Given the description of an element on the screen output the (x, y) to click on. 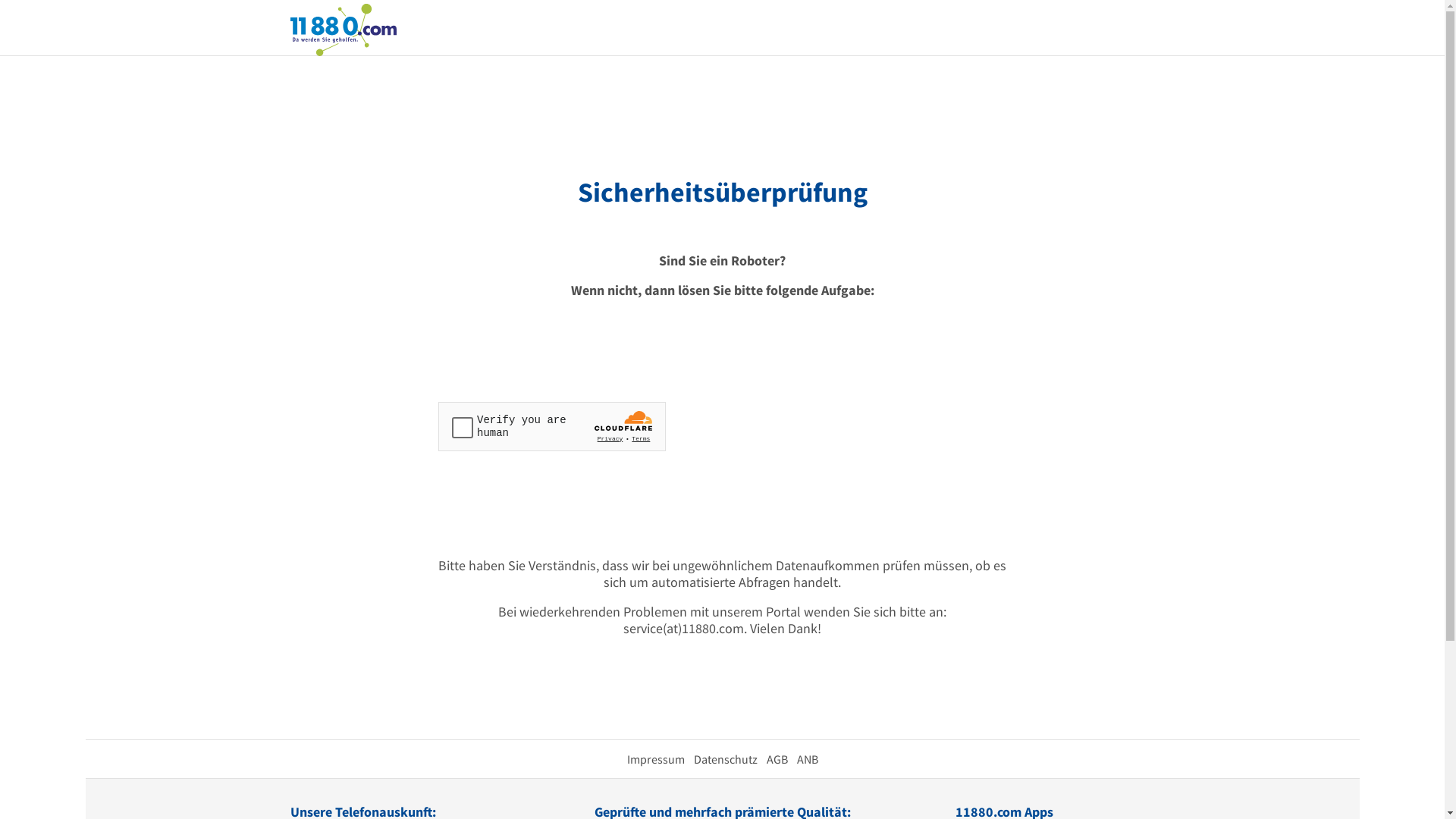
11880.com Element type: hover (342, 28)
Datenschutz Element type: text (724, 758)
Impressum Element type: text (655, 758)
AGB Element type: text (776, 758)
ANB Element type: text (806, 758)
Widget containing a Cloudflare security challenge Element type: hover (551, 426)
